Given the description of an element on the screen output the (x, y) to click on. 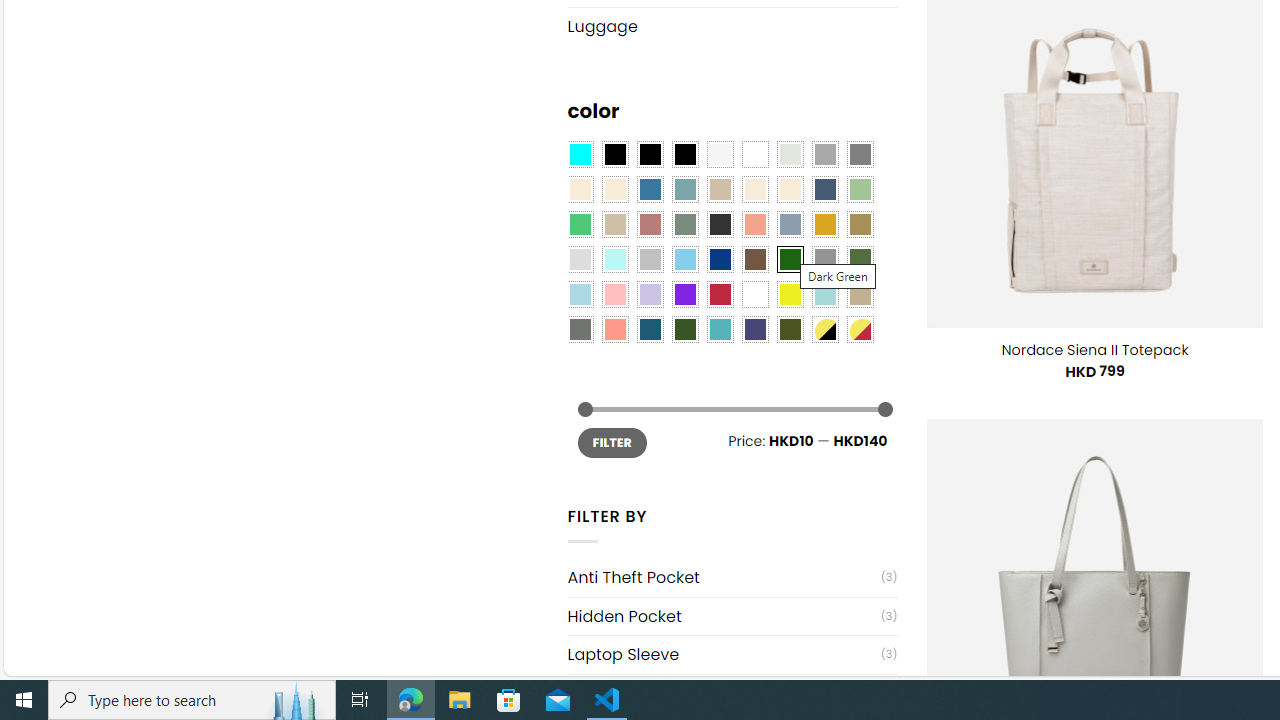
Army Green (789, 329)
Cream (789, 190)
Khaki (859, 295)
Dark Green (789, 259)
All Gray (859, 154)
Brownie (719, 190)
Hidden Pocket (723, 615)
Yellow (789, 295)
Laptop Sleeve (723, 654)
Capri Blue (650, 329)
USB Charging Port (723, 693)
Hidden Pocket(3) (732, 615)
Light Green (859, 190)
Black (650, 154)
Blue (650, 190)
